Given the description of an element on the screen output the (x, y) to click on. 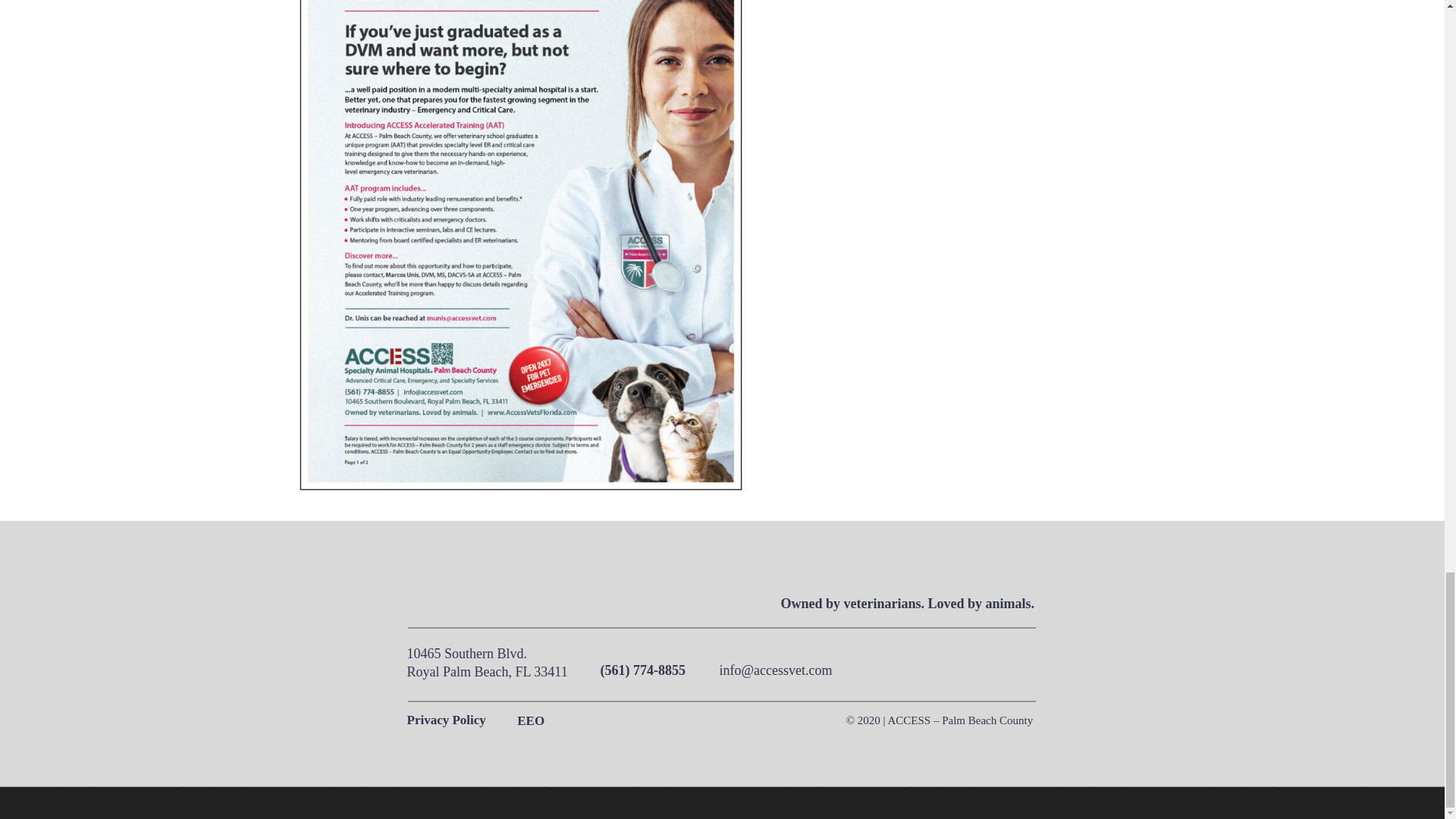
EEO (530, 722)
Privacy Policy (454, 721)
